Given the description of an element on the screen output the (x, y) to click on. 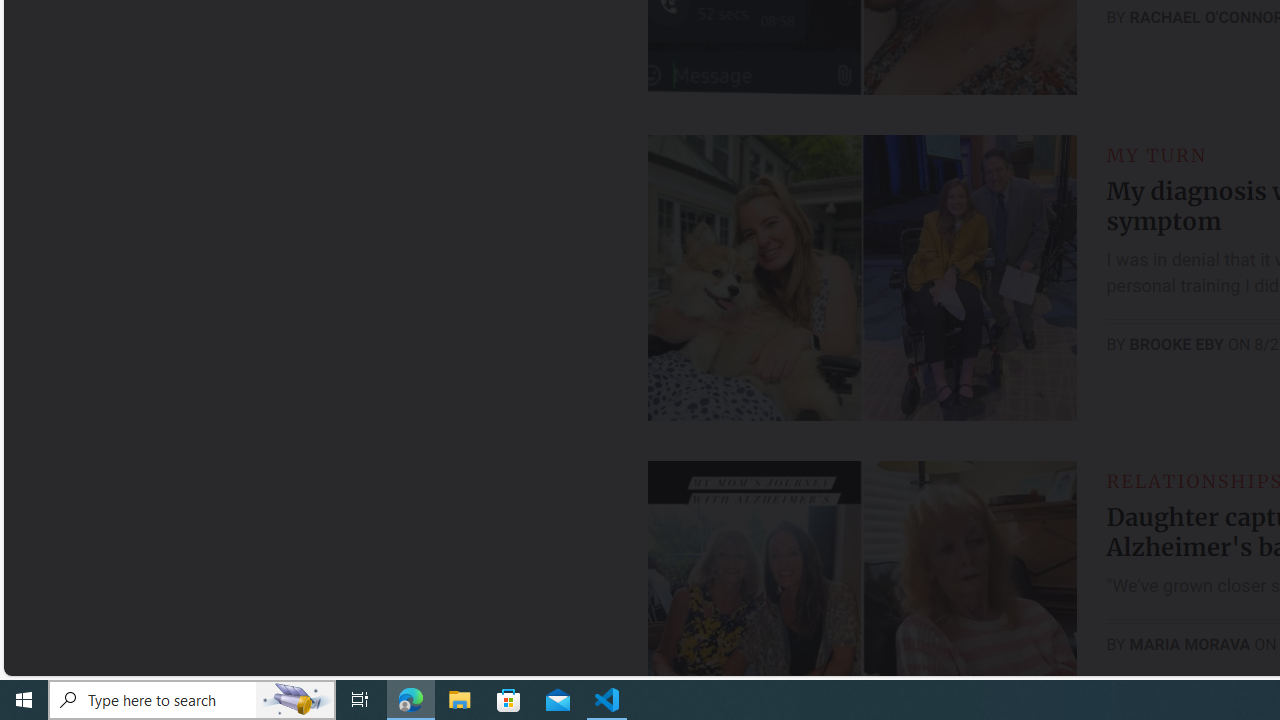
MY TURN (1156, 155)
